Given the description of an element on the screen output the (x, y) to click on. 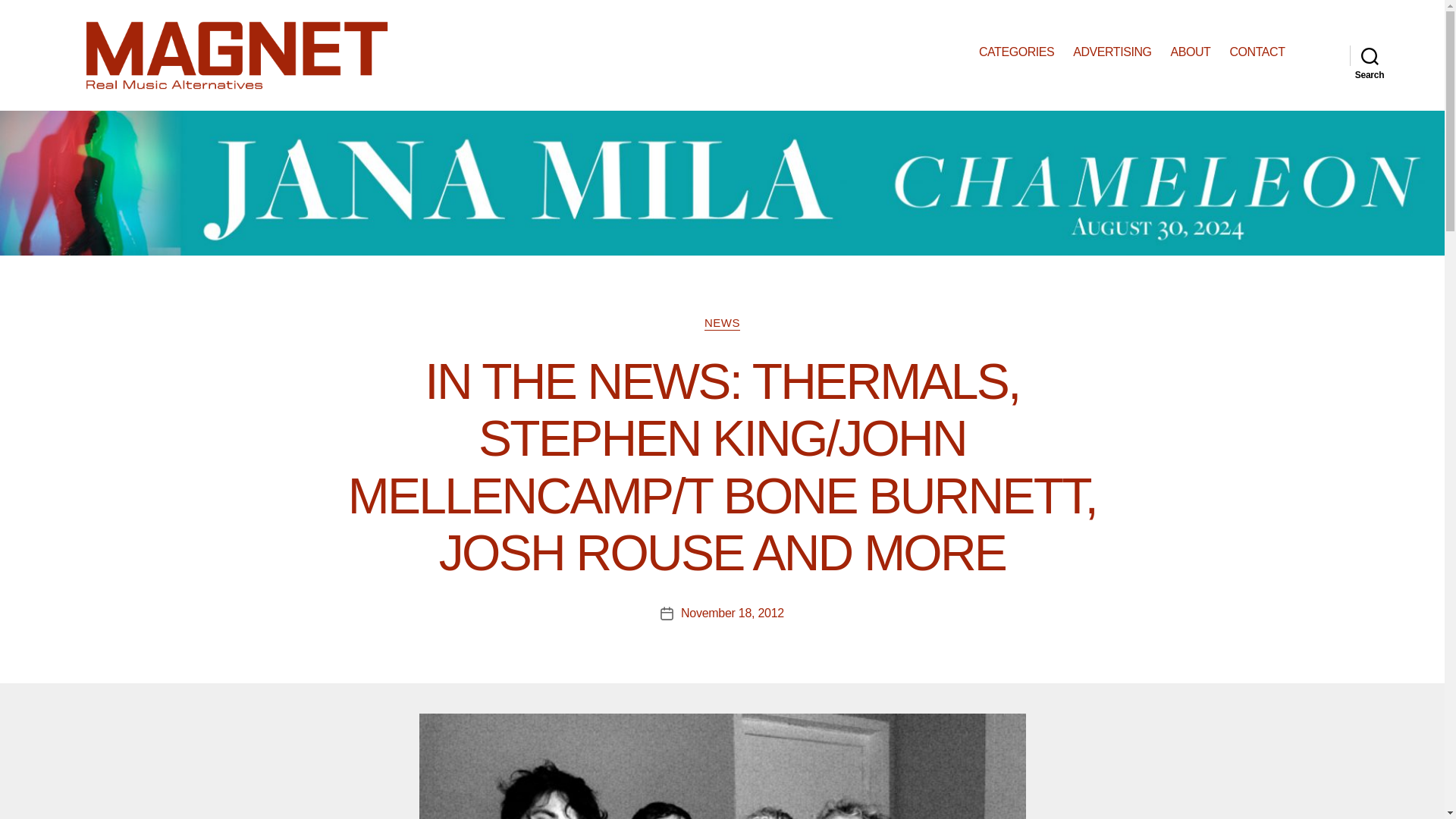
ABOUT (1190, 51)
Search (1369, 55)
CATEGORIES (1016, 51)
November 18, 2012 (732, 612)
Thermals (722, 766)
ADVERTISING (1112, 51)
CONTACT (1256, 51)
NEWS (721, 322)
